Given the description of an element on the screen output the (x, y) to click on. 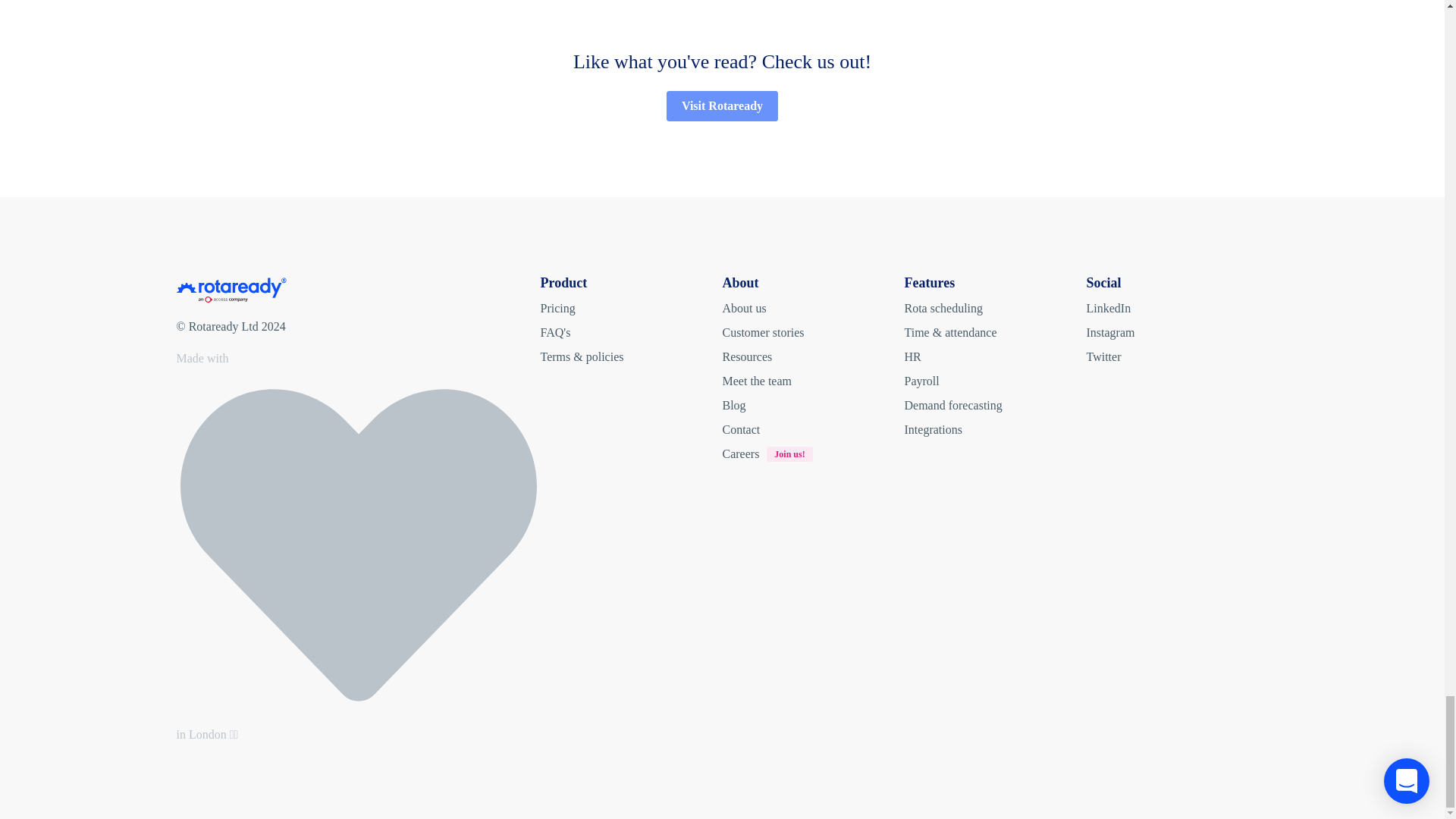
Demand forecasting (995, 405)
Pricing (631, 308)
Contact (813, 429)
Payroll (995, 381)
About us (813, 308)
Visit Rotaready (721, 104)
Visit Rotaready (721, 105)
Integrations (995, 429)
FAQ's (631, 332)
HR (770, 452)
Blog (995, 356)
Rota scheduling (813, 405)
Resources (995, 308)
Customer stories (813, 356)
